Given the description of an element on the screen output the (x, y) to click on. 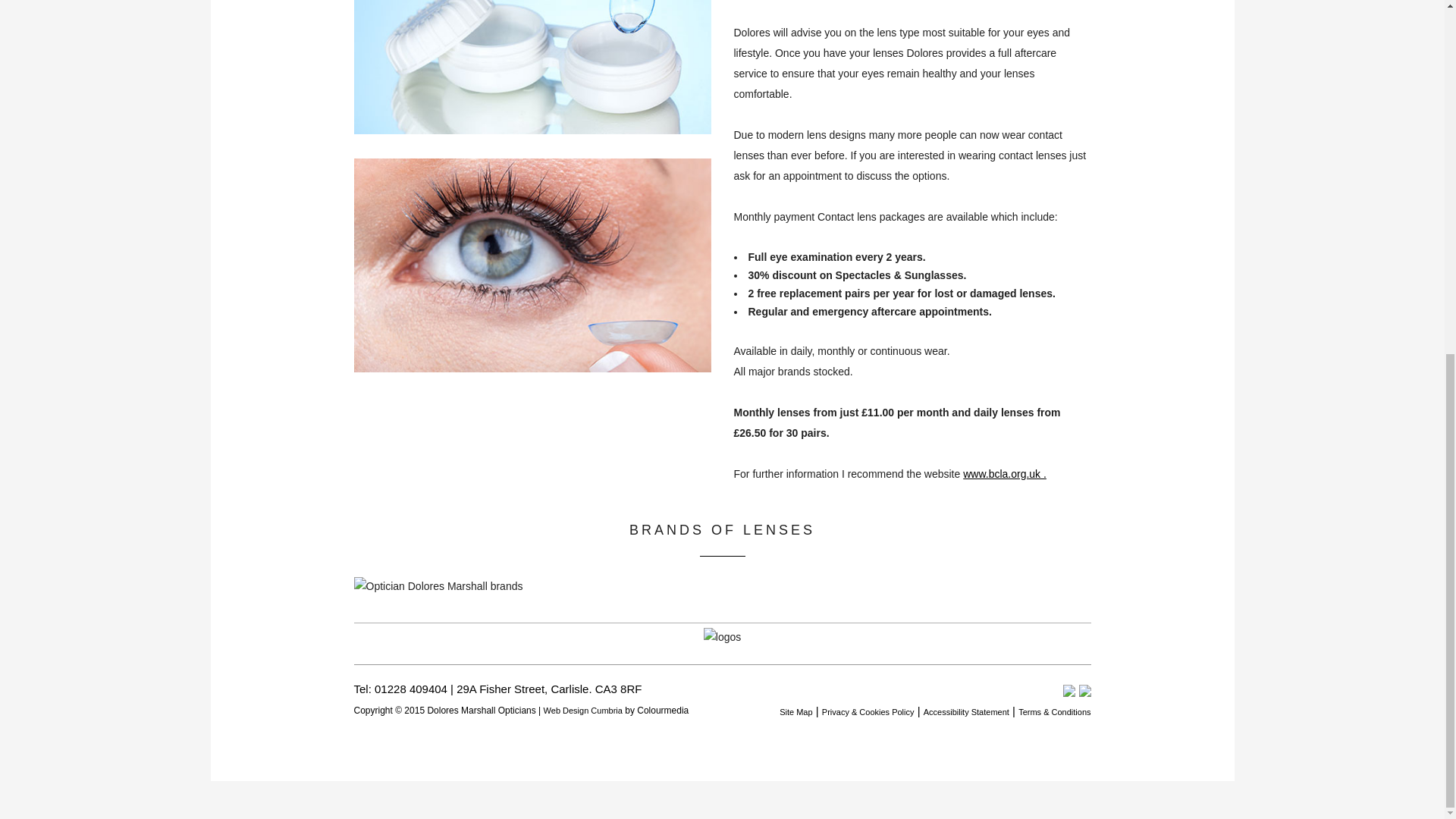
Web Design Cumbria (583, 709)
www.bcla.org.uk . (1004, 473)
Site Map (795, 711)
Accessibility Statement (966, 711)
